Given the description of an element on the screen output the (x, y) to click on. 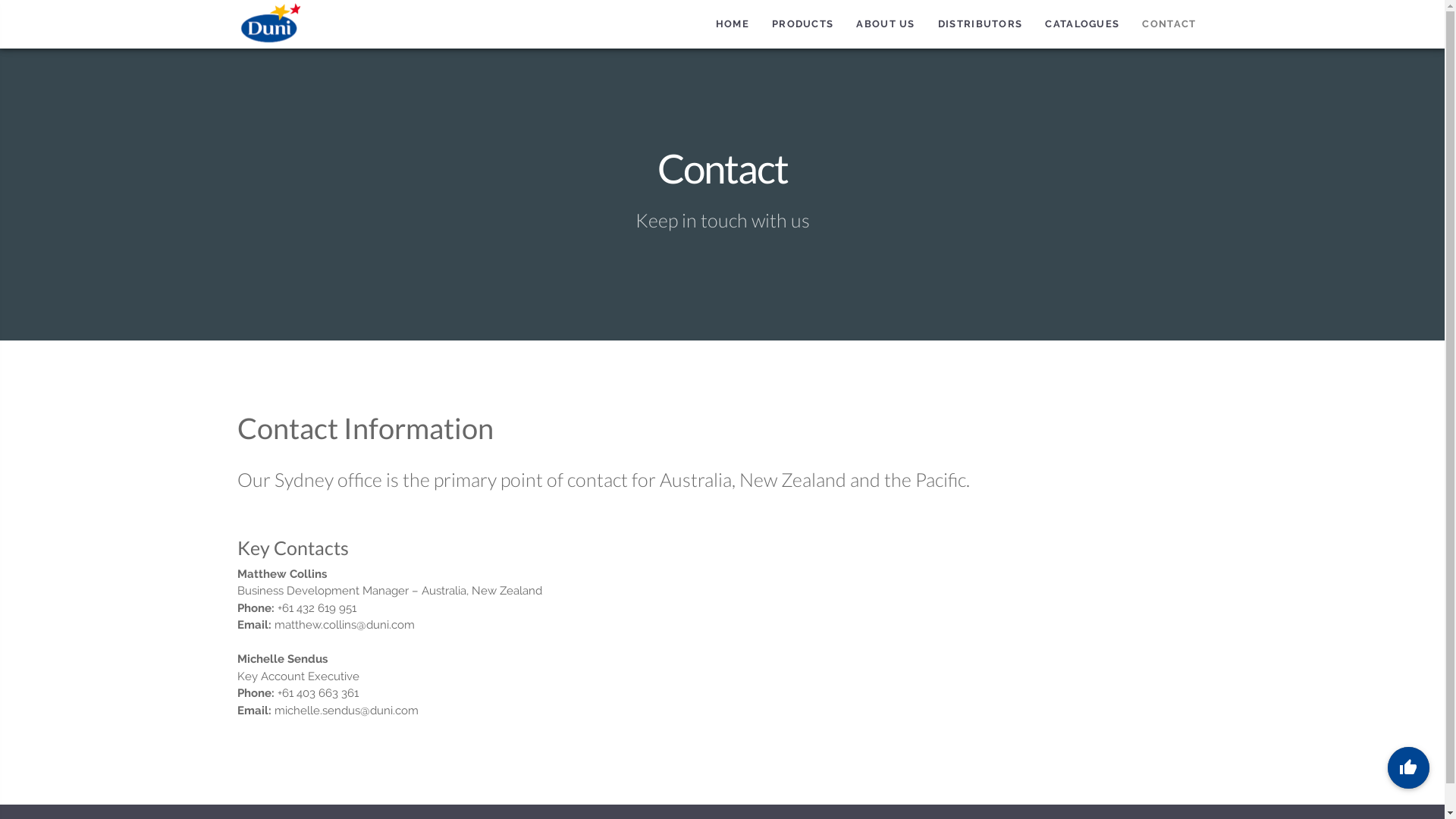
CATALOGUES Element type: text (1081, 24)
ABOUT US Element type: text (884, 24)
thumb_up Element type: text (1408, 767)
PRODUCTS Element type: text (802, 24)
DISTRIBUTORS Element type: text (980, 24)
CONTACT Element type: text (1168, 24)
HOME Element type: text (732, 24)
